Given the description of an element on the screen output the (x, y) to click on. 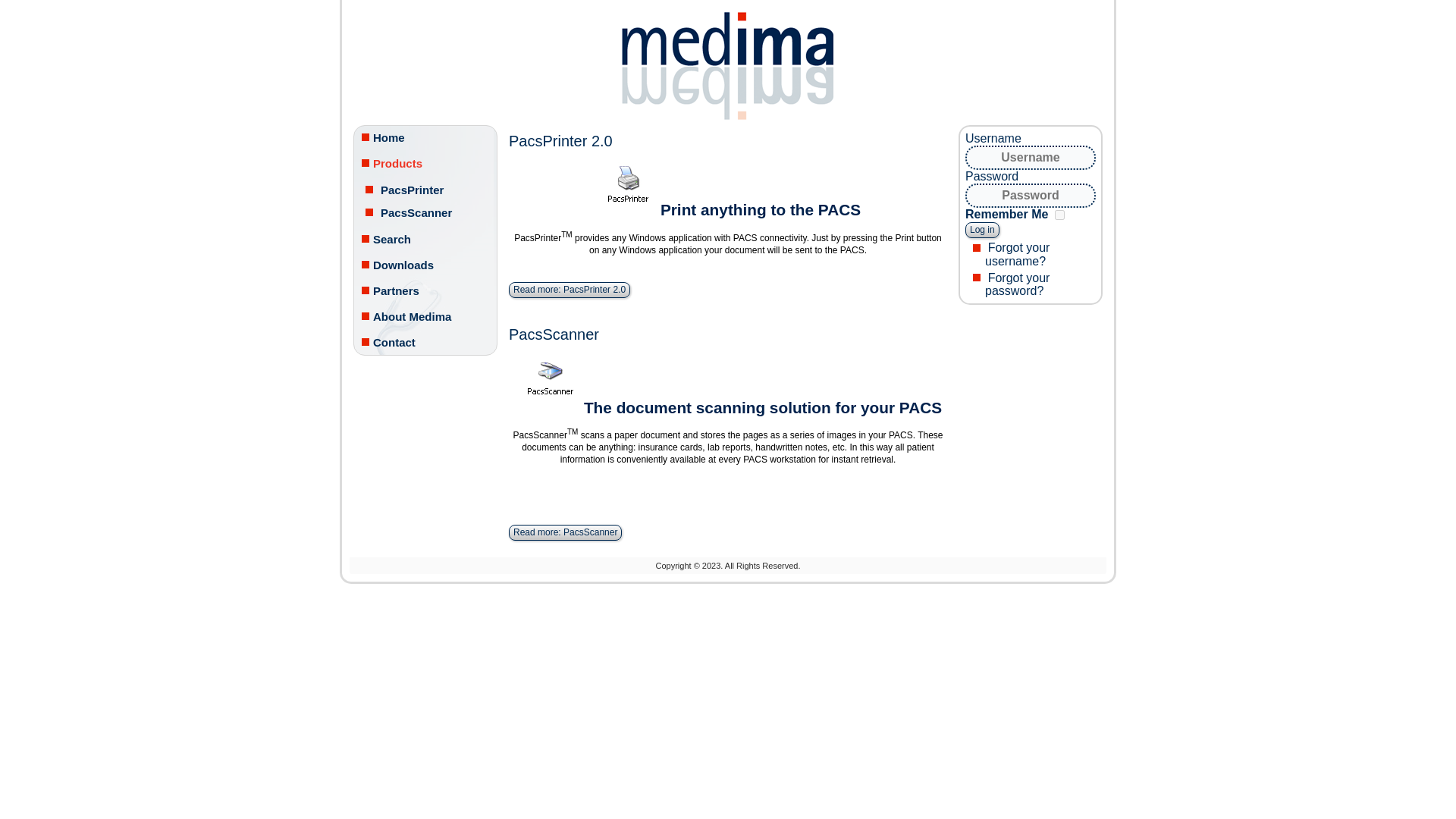
Contact (424, 342)
Downloads (424, 265)
PacsPrinter (424, 190)
Products (424, 163)
PacsScanner (424, 212)
Forgot your username? (1017, 253)
yes (1059, 214)
Search (424, 239)
Log in (981, 229)
Partners (424, 291)
